Given the description of an element on the screen output the (x, y) to click on. 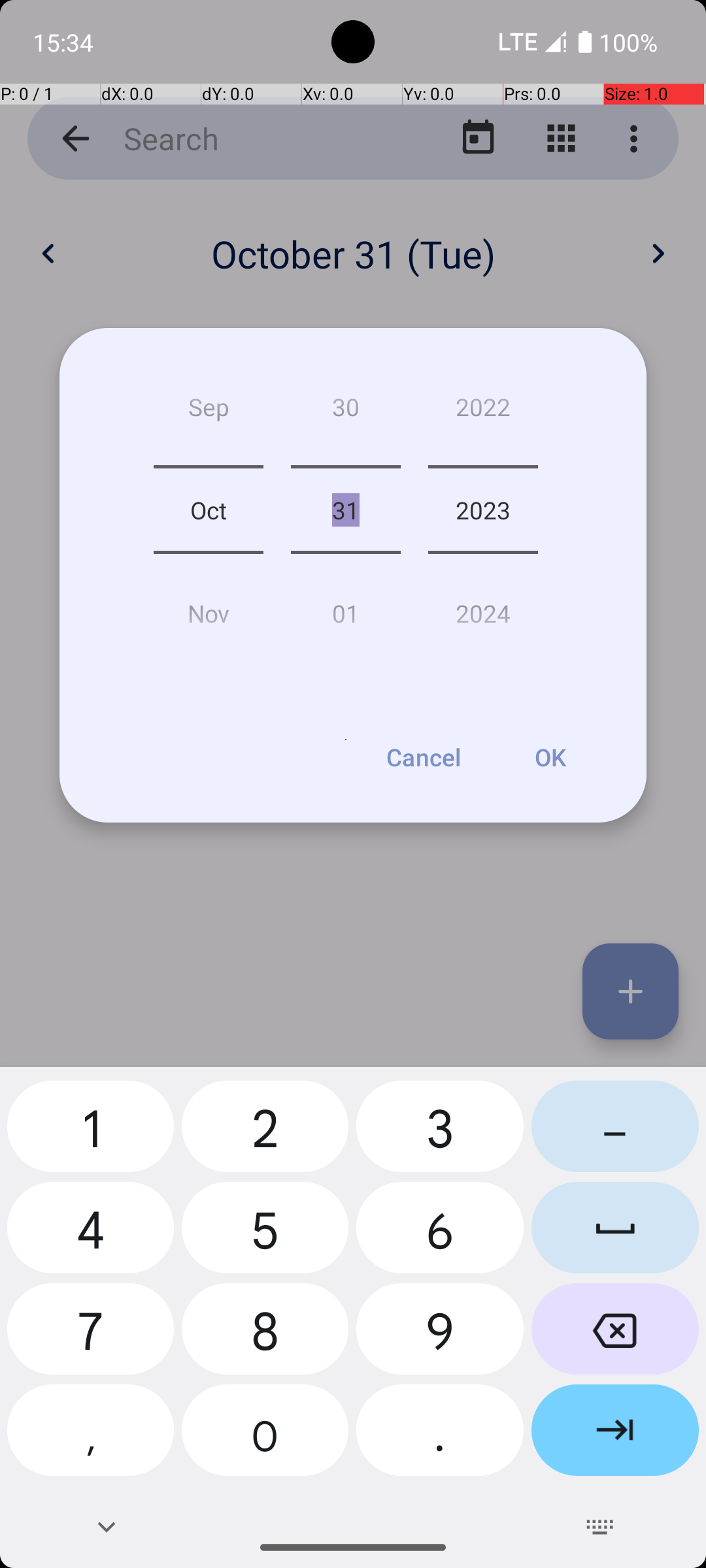
01 Element type: android.widget.Button (345, 607)
